Given the description of an element on the screen output the (x, y) to click on. 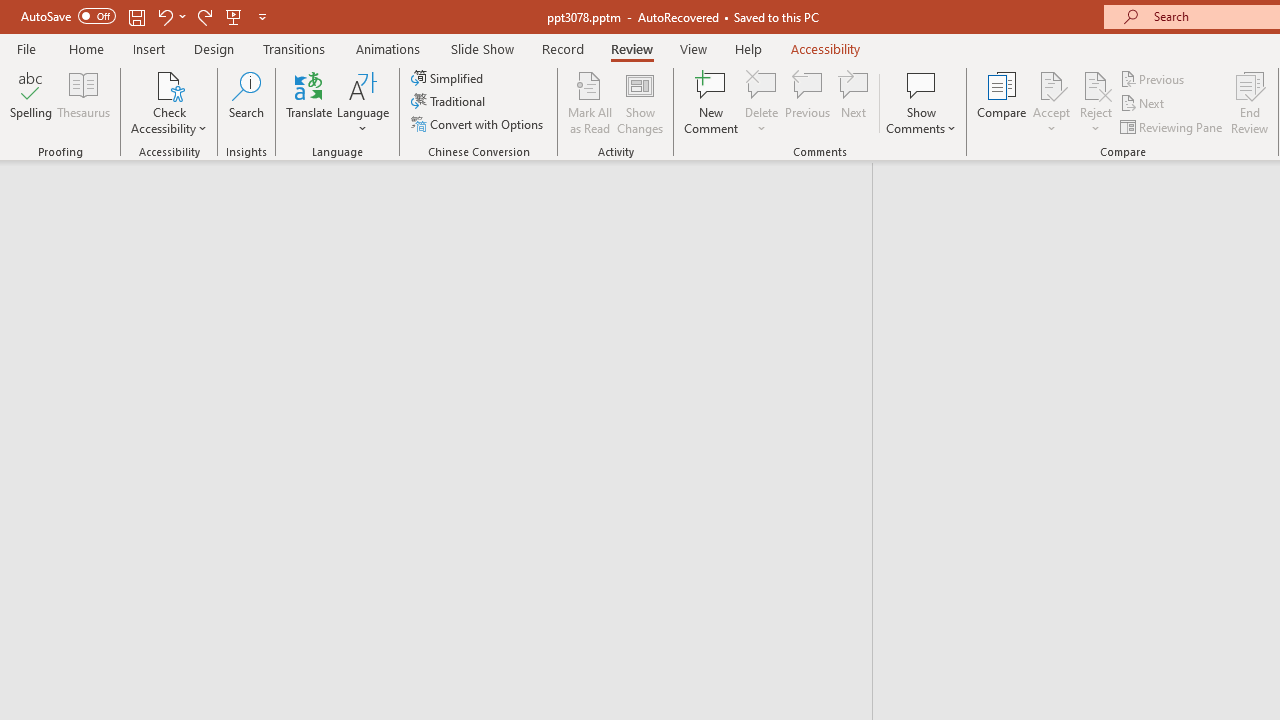
Outline (445, 202)
Traditional (449, 101)
Delete (762, 102)
Reject (1096, 102)
